Given the description of an element on the screen output the (x, y) to click on. 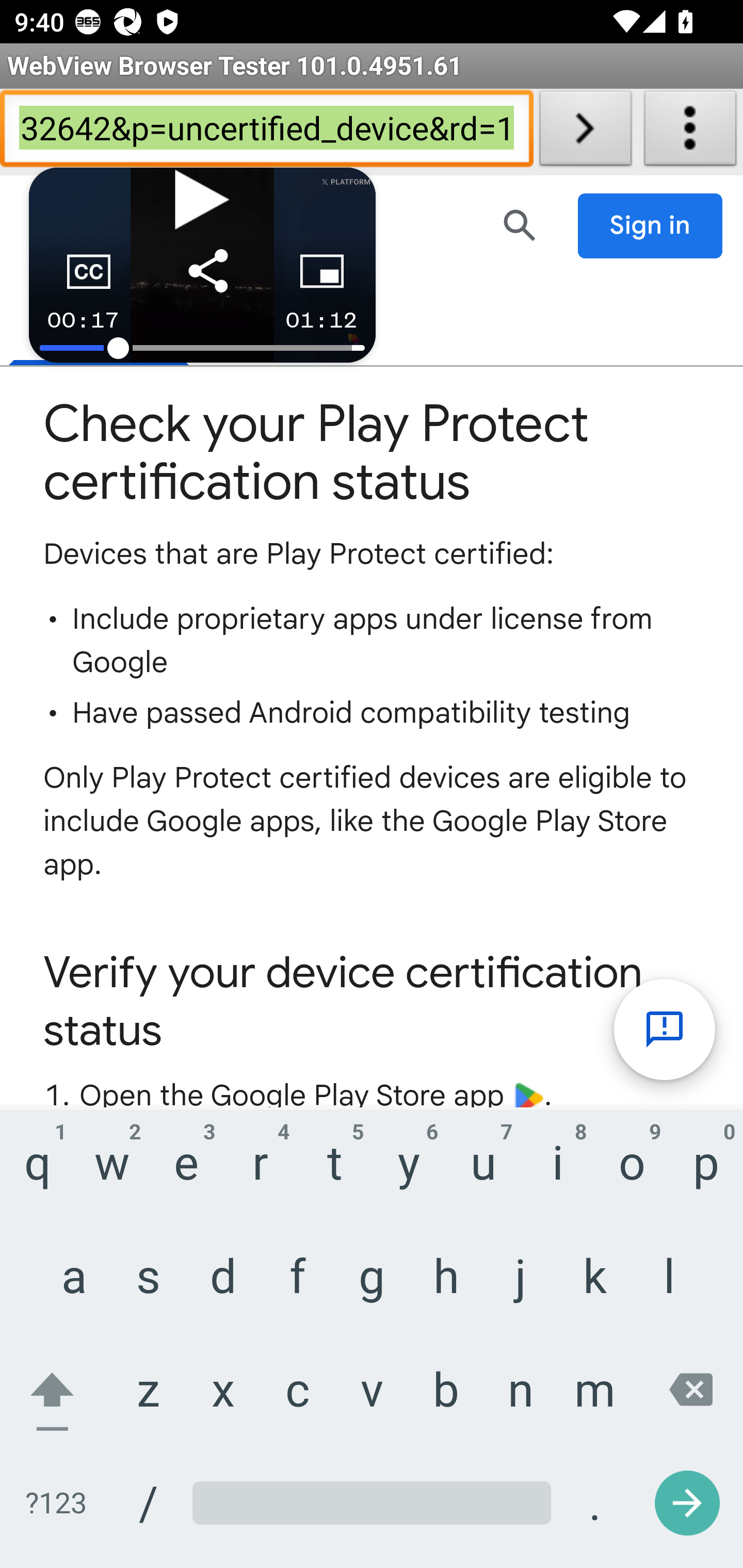
Load URL (585, 132)
About WebView (690, 132)
Search Help Center (519, 225)
Sign in (650, 226)
